Given the description of an element on the screen output the (x, y) to click on. 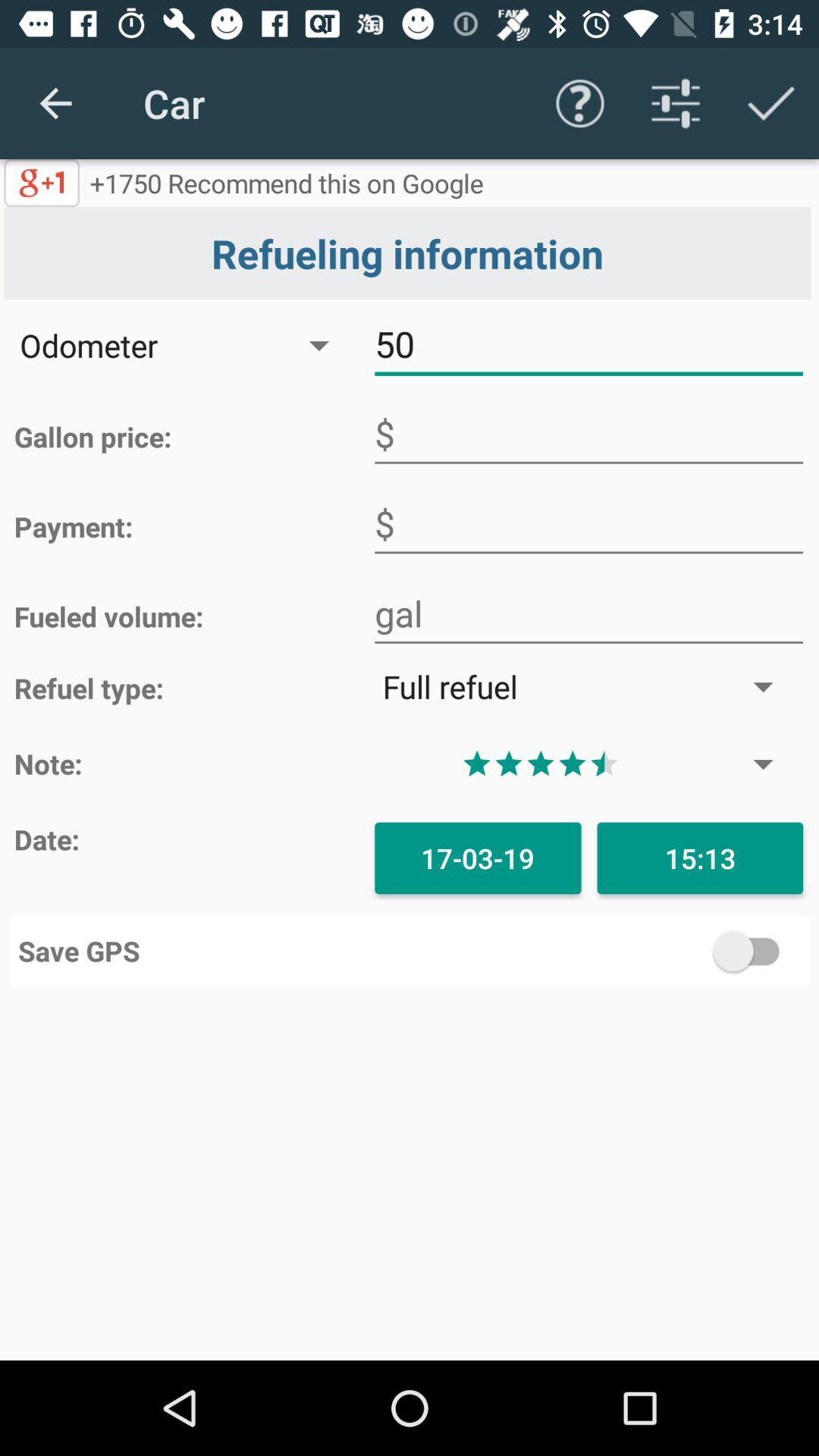
volume in gallon (588, 614)
